Given the description of an element on the screen output the (x, y) to click on. 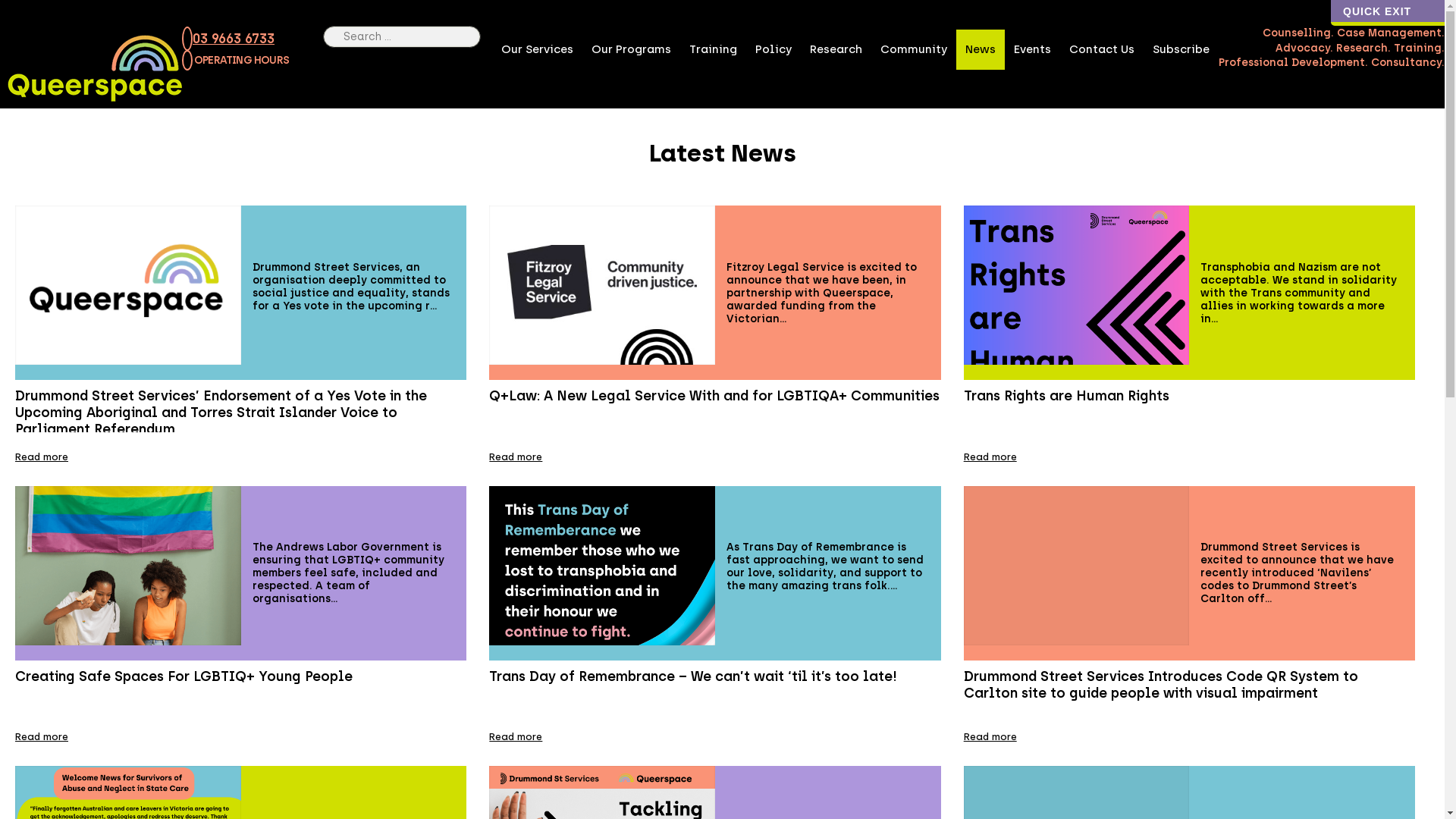
Read more Element type: text (515, 736)
Trans Rights are Human Rights Element type: text (1189, 395)
Read more Element type: text (989, 736)
Read more Element type: text (989, 456)
Research Element type: text (835, 49)
OPERATING HOURS Element type: text (235, 62)
Read more Element type: text (41, 456)
Contact Us Element type: text (1101, 49)
Our Programs Element type: text (631, 49)
Read more Element type: text (41, 736)
Search Element type: text (332, 36)
Read more Element type: text (515, 456)
News Element type: text (980, 49)
QUICK EXIT Element type: text (1387, 12)
Training Element type: text (713, 49)
Q+Law: A New Legal Service With and for LGBTIQA+ Communities Element type: text (714, 395)
Policy Element type: text (773, 49)
Subscribe Element type: text (1180, 49)
Events Element type: text (1032, 49)
Community Element type: text (913, 49)
03 9663 6733 Element type: text (228, 38)
Our Services Element type: text (537, 49)
Creating Safe Spaces For LGBTIQ+ Young People Element type: text (240, 676)
